Given the description of an element on the screen output the (x, y) to click on. 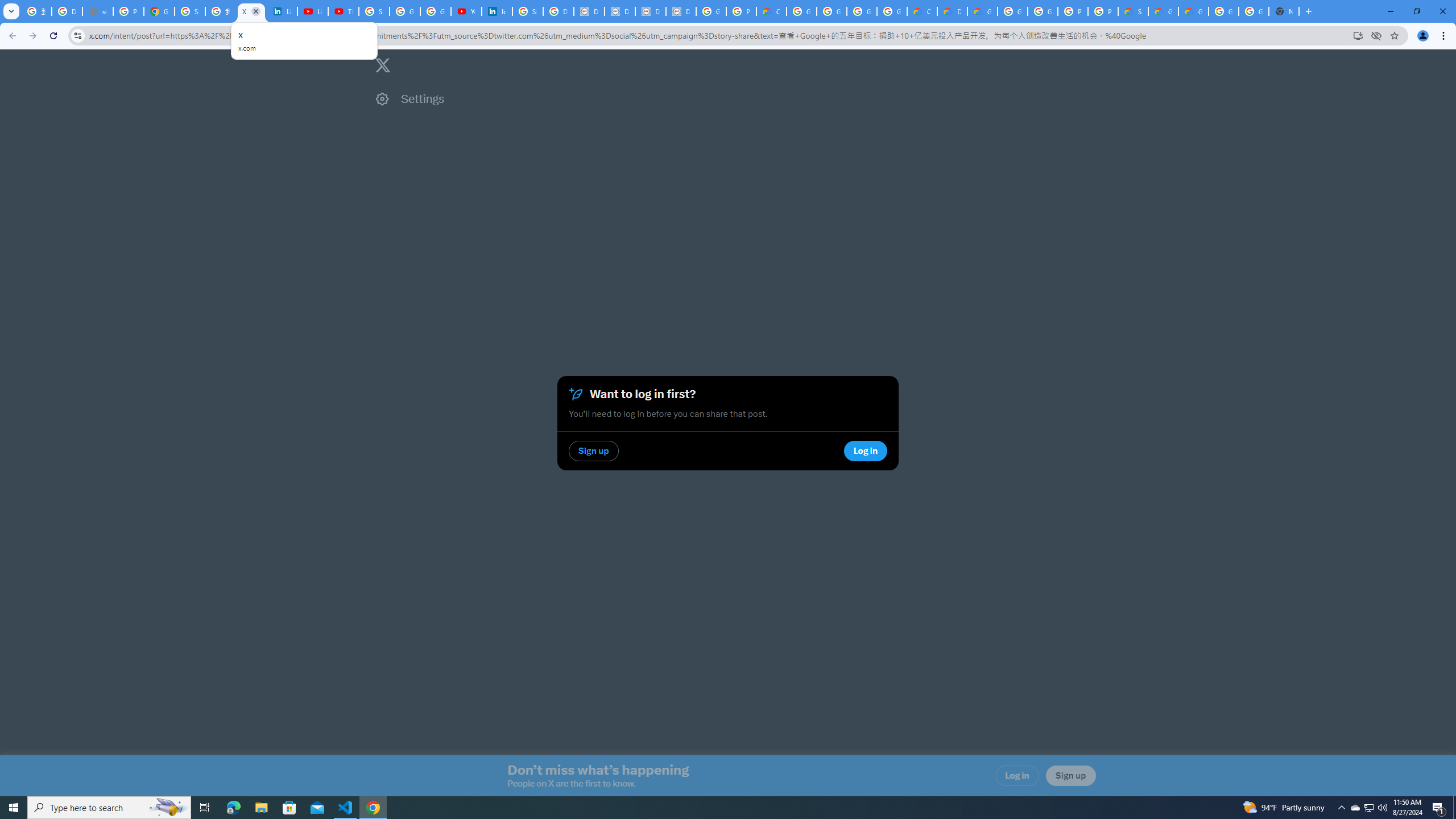
Google Cloud Service Health (1193, 11)
Google Workspace - Specific Terms (861, 11)
Sign up (1070, 775)
Sign in - Google Accounts (373, 11)
Install X (1358, 35)
Google Cloud Platform (1223, 11)
New Tab (1283, 11)
Cloud Data Processing Addendum | Google Cloud (771, 11)
